Given the description of an element on the screen output the (x, y) to click on. 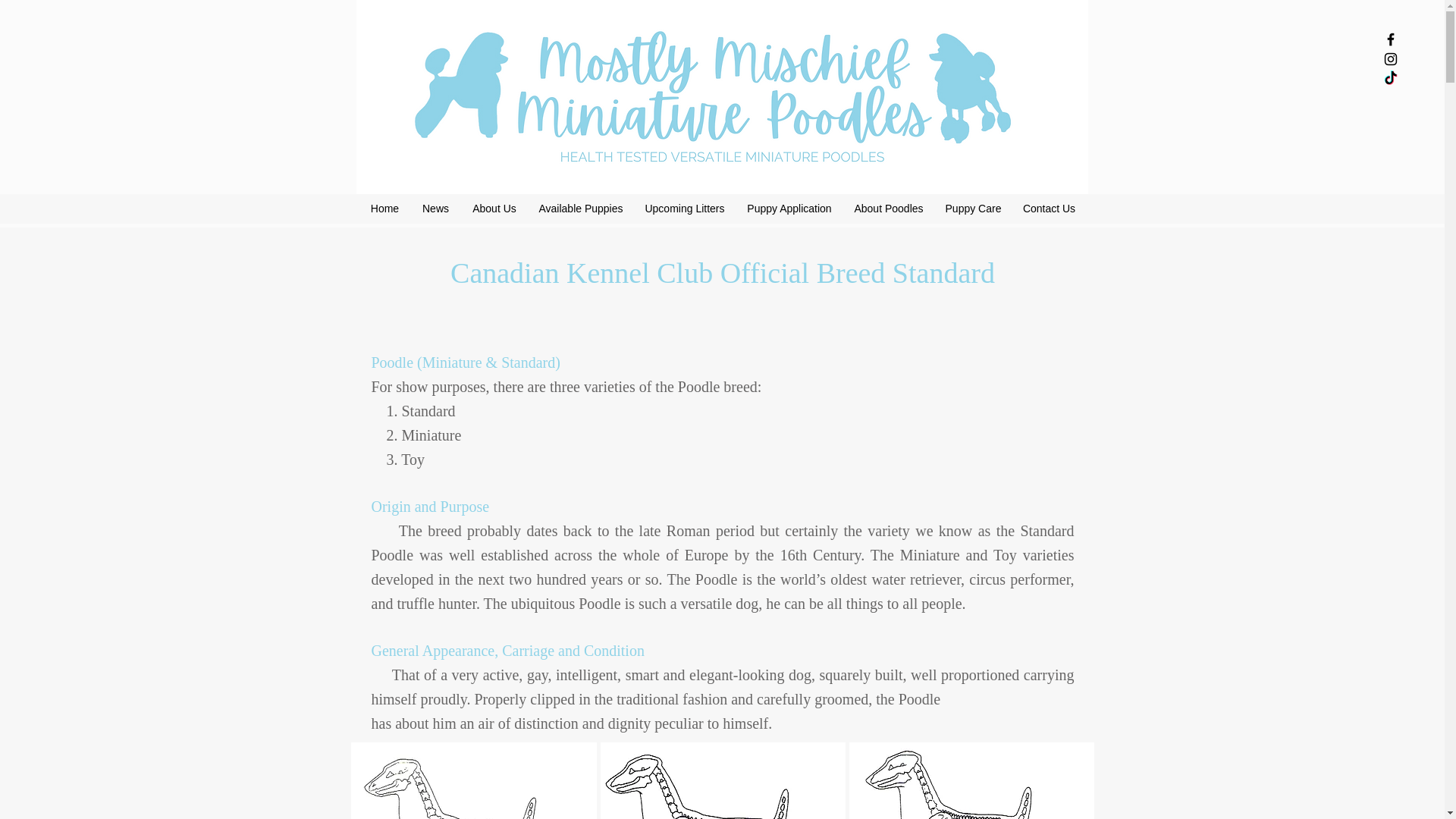
Head.jpg (971, 780)
Home (384, 208)
Head.jpg (722, 780)
Available Puppies (580, 208)
News (435, 208)
Contact Us (1048, 208)
Head.jpg (472, 780)
Upcoming Litters (684, 208)
